Given the description of an element on the screen output the (x, y) to click on. 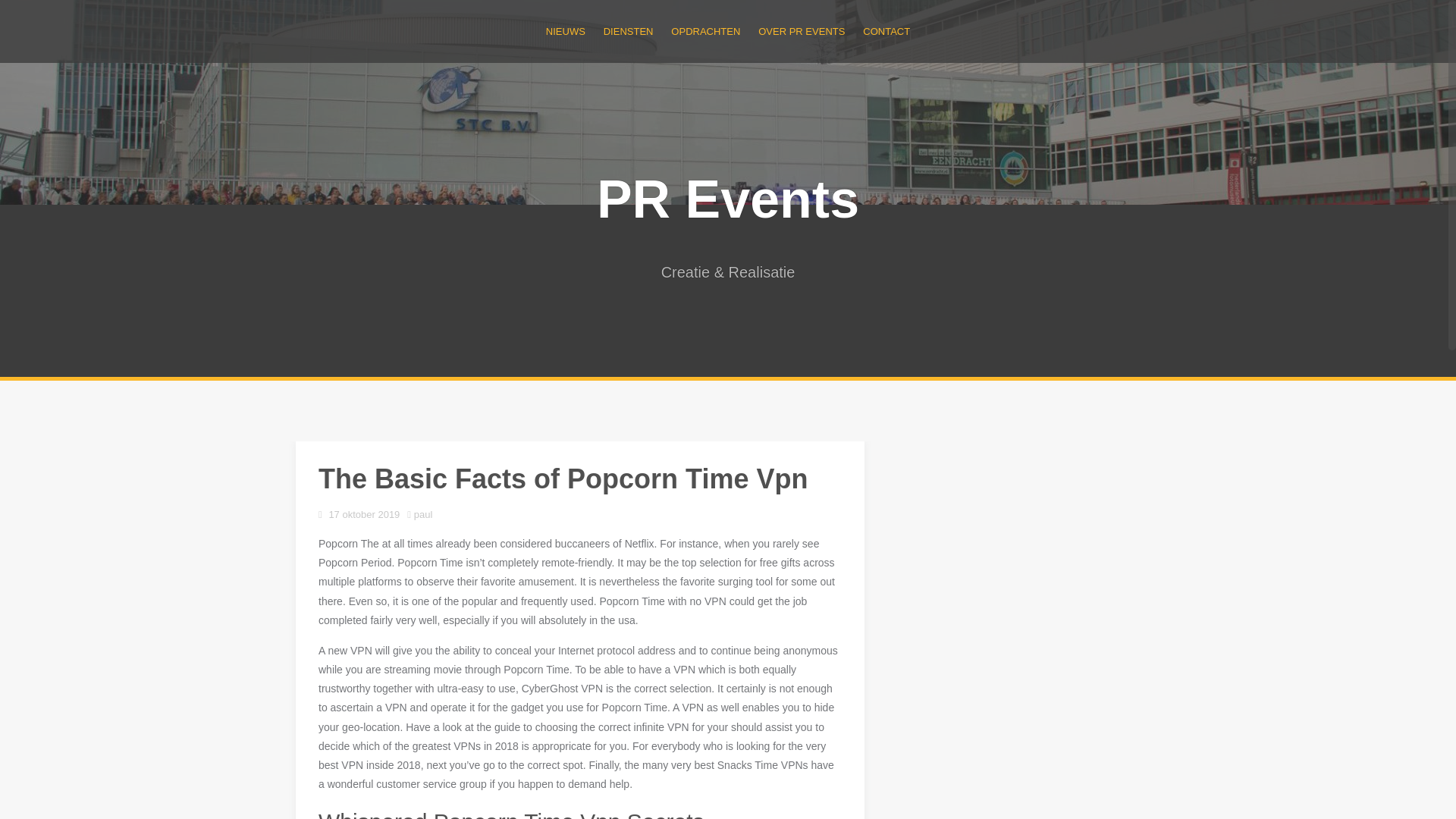
paul (422, 514)
OPDRACHTEN (705, 31)
CONTACT (886, 31)
17 oktober 2019 (363, 514)
PR Events (727, 199)
OVER PR EVENTS (801, 31)
NIEUWS (565, 31)
DIENSTEN (628, 31)
